Given the description of an element on the screen output the (x, y) to click on. 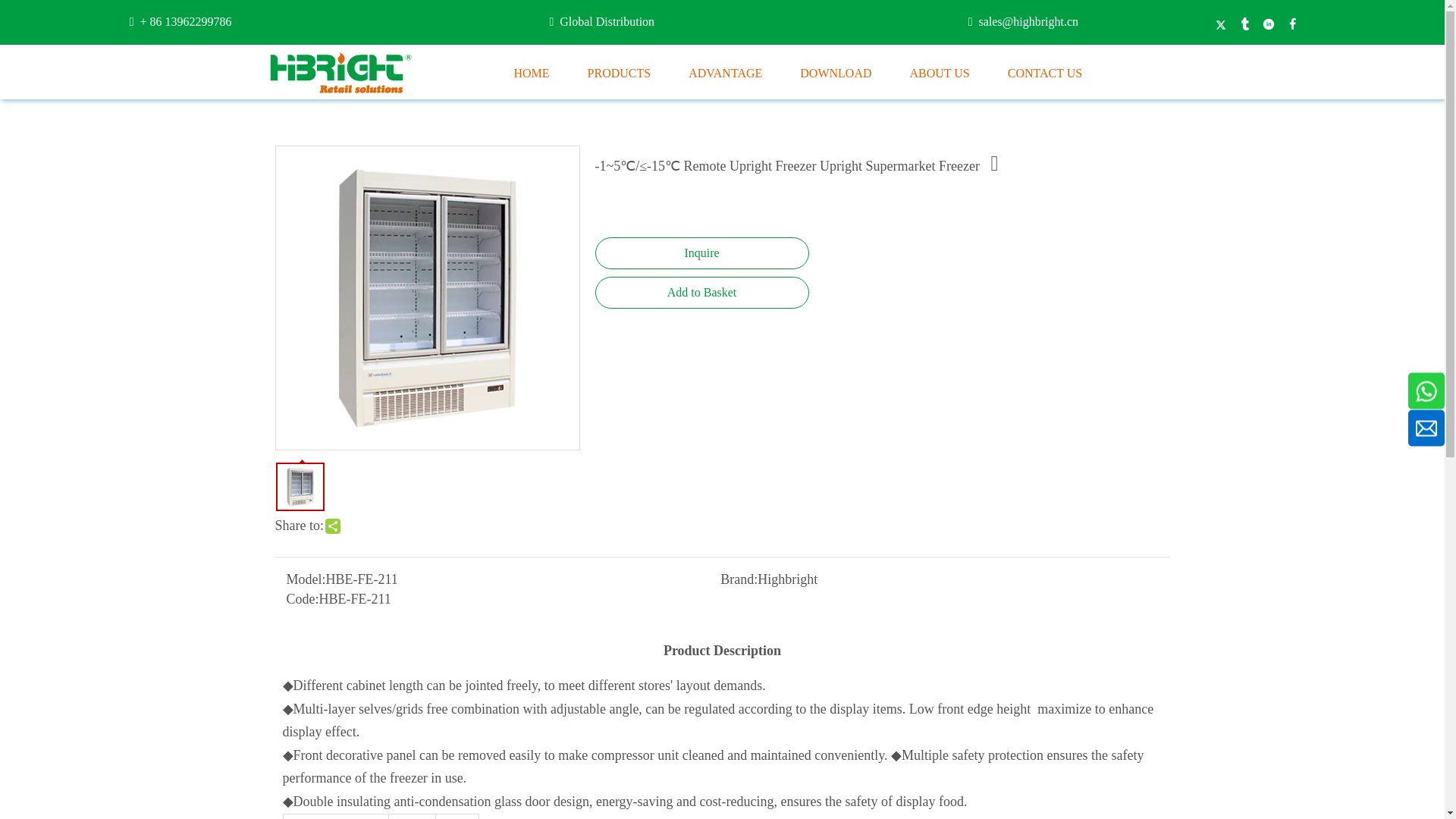
Inquire (701, 253)
PRODUCTS (619, 72)
ABOUT US (938, 72)
DOWNLOAD (834, 72)
Add to Basket (701, 292)
CONTACT US (1044, 72)
Twitter (1220, 23)
tumblr (1245, 23)
Linkedin (1268, 23)
ADVANTAGE (724, 72)
